Given the description of an element on the screen output the (x, y) to click on. 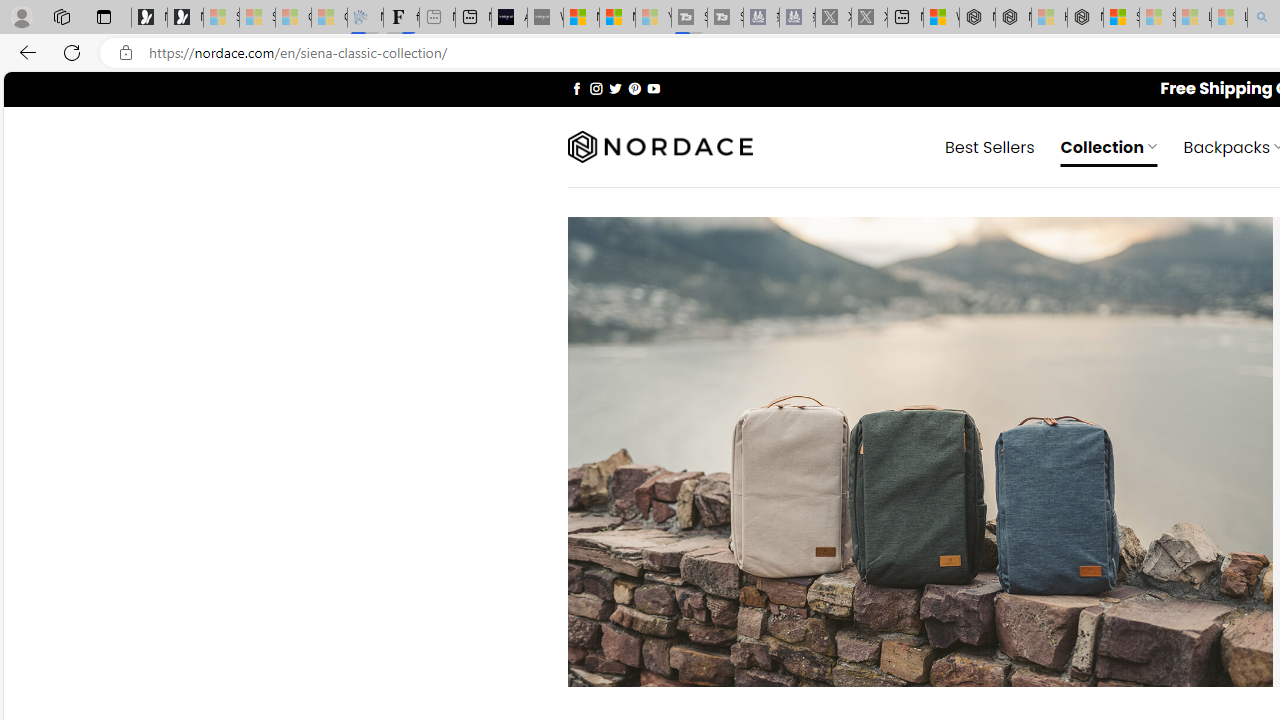
Streaming Coverage | T3 - Sleeping (689, 17)
AI Voice Changer for PC and Mac - Voice.ai (509, 17)
 Best Sellers (989, 146)
Newsletter Sign Up (185, 17)
  Best Sellers (989, 146)
Follow on Twitter (615, 88)
